Given the description of an element on the screen output the (x, y) to click on. 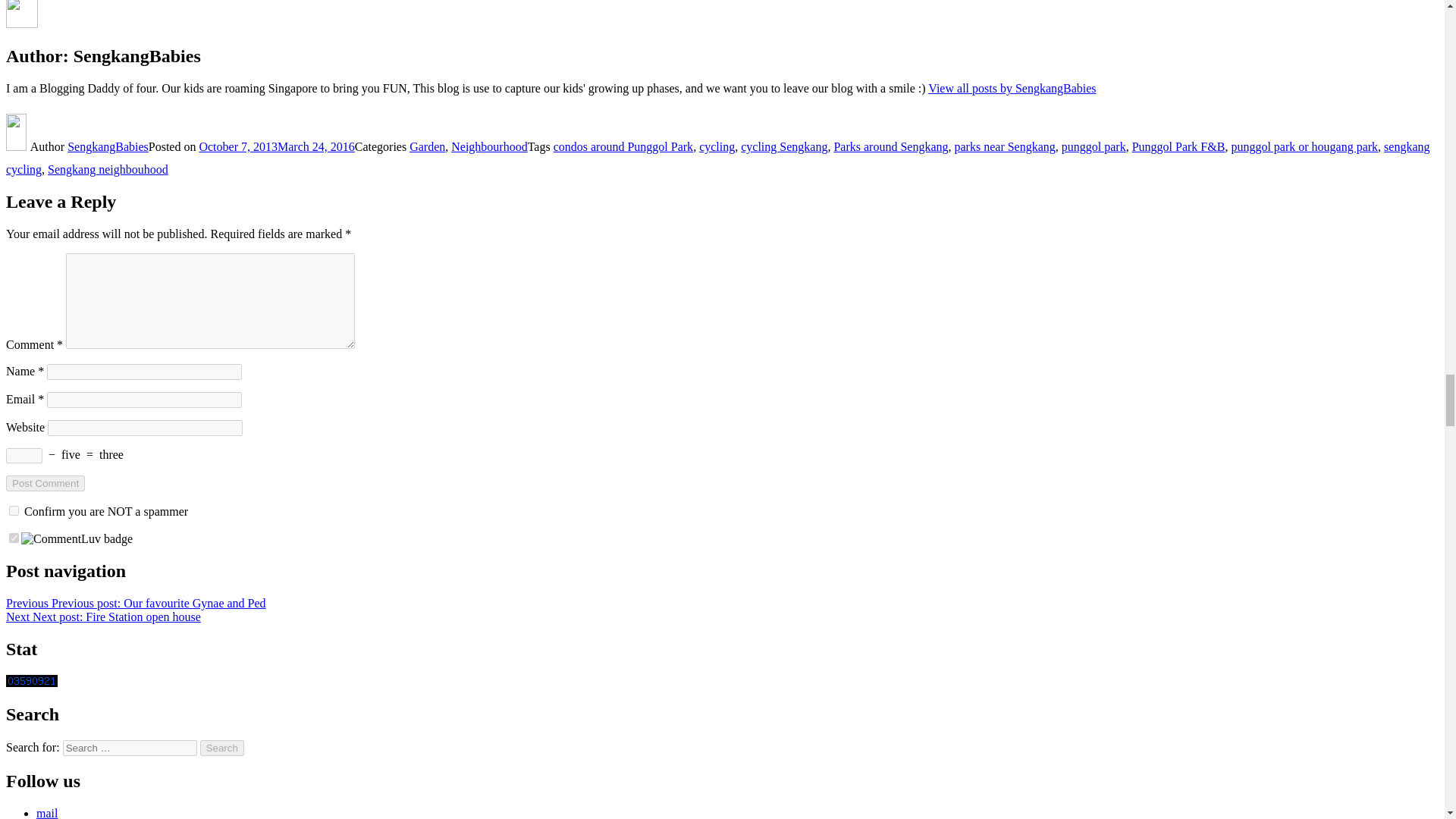
October 7, 2013March 24, 2016 (275, 146)
Default Label (47, 812)
View all posts by SengkangBabies (1012, 88)
cycling (716, 146)
Parks around Sengkang (889, 146)
Garden (427, 146)
Neighbourhood (489, 146)
Post Comment (44, 483)
parks near Sengkang (1005, 146)
on (13, 537)
